Given the description of an element on the screen output the (x, y) to click on. 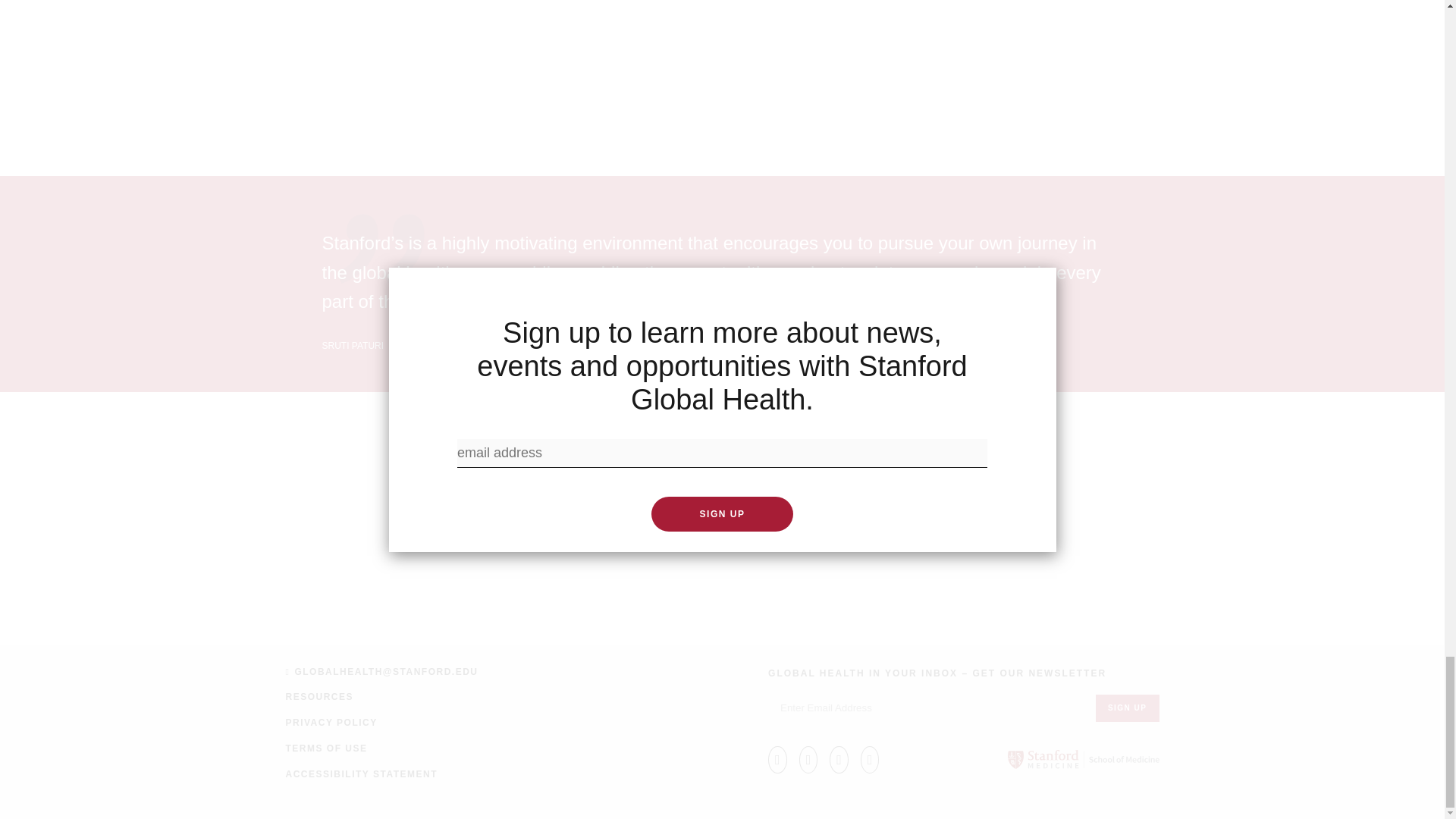
Sign Up (1127, 707)
